Given the description of an element on the screen output the (x, y) to click on. 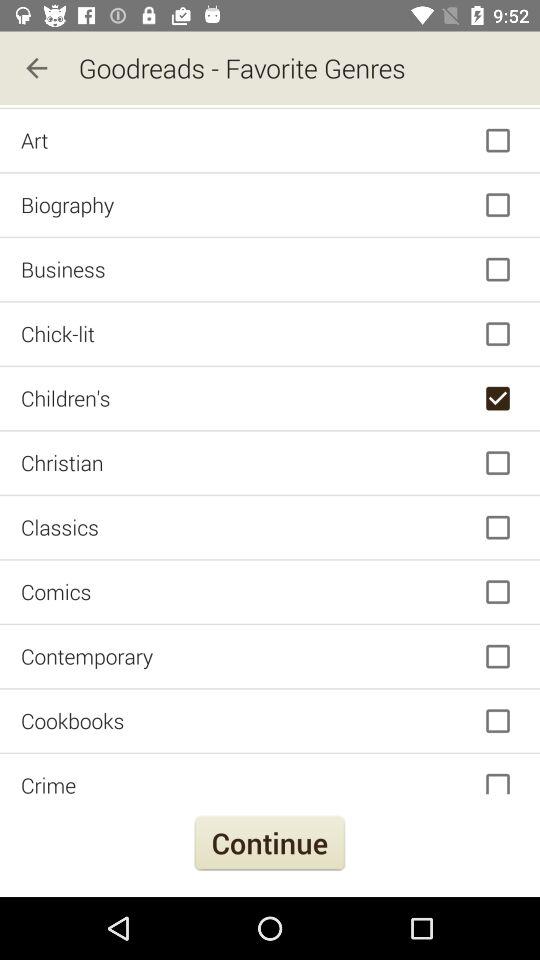
scroll until children's (270, 398)
